Given the description of an element on the screen output the (x, y) to click on. 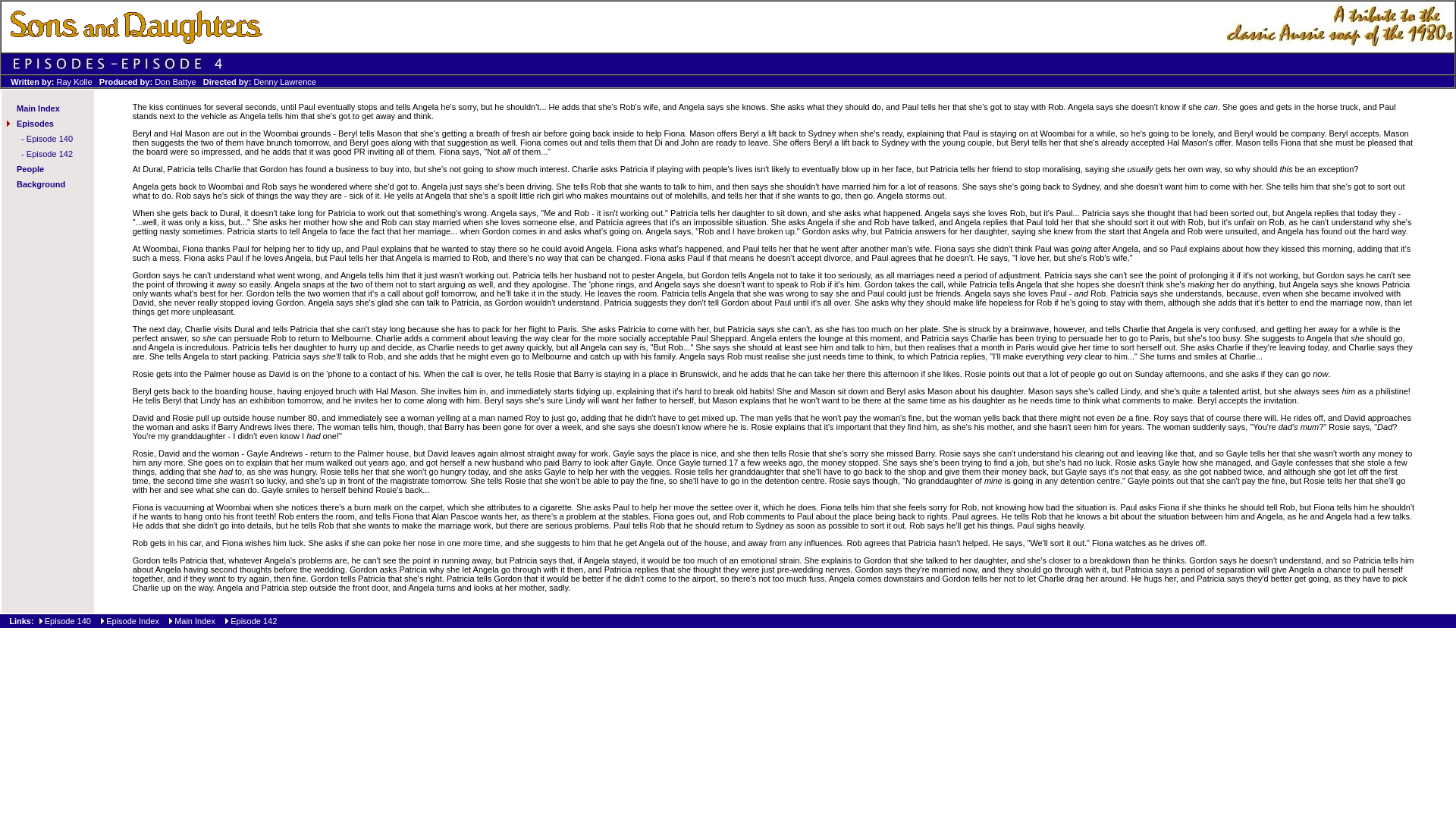
Episode 140 (49, 138)
Episode 142 (49, 153)
Episode Index (132, 620)
Episodes (34, 122)
Main Index (195, 620)
Main Index (37, 108)
Episode 142 (253, 620)
Episode 140 (67, 620)
Background (40, 184)
People (29, 168)
